Given the description of an element on the screen output the (x, y) to click on. 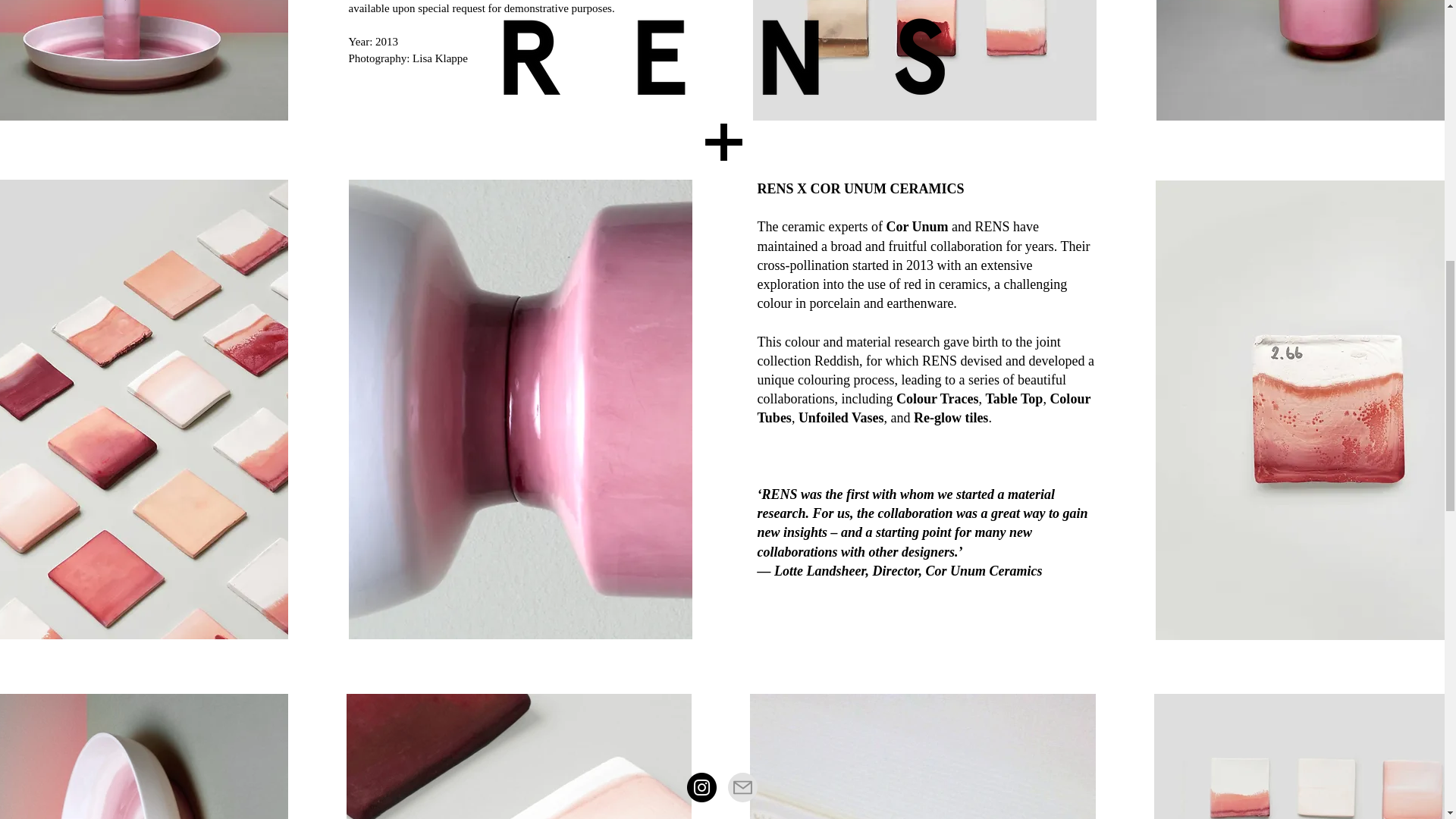
Re-glow tiles (951, 417)
Unfoiled Vases (840, 417)
Cor Unum (916, 226)
Colour Traces (937, 398)
Table Top (1013, 398)
Colour Tubes (923, 408)
